Given the description of an element on the screen output the (x, y) to click on. 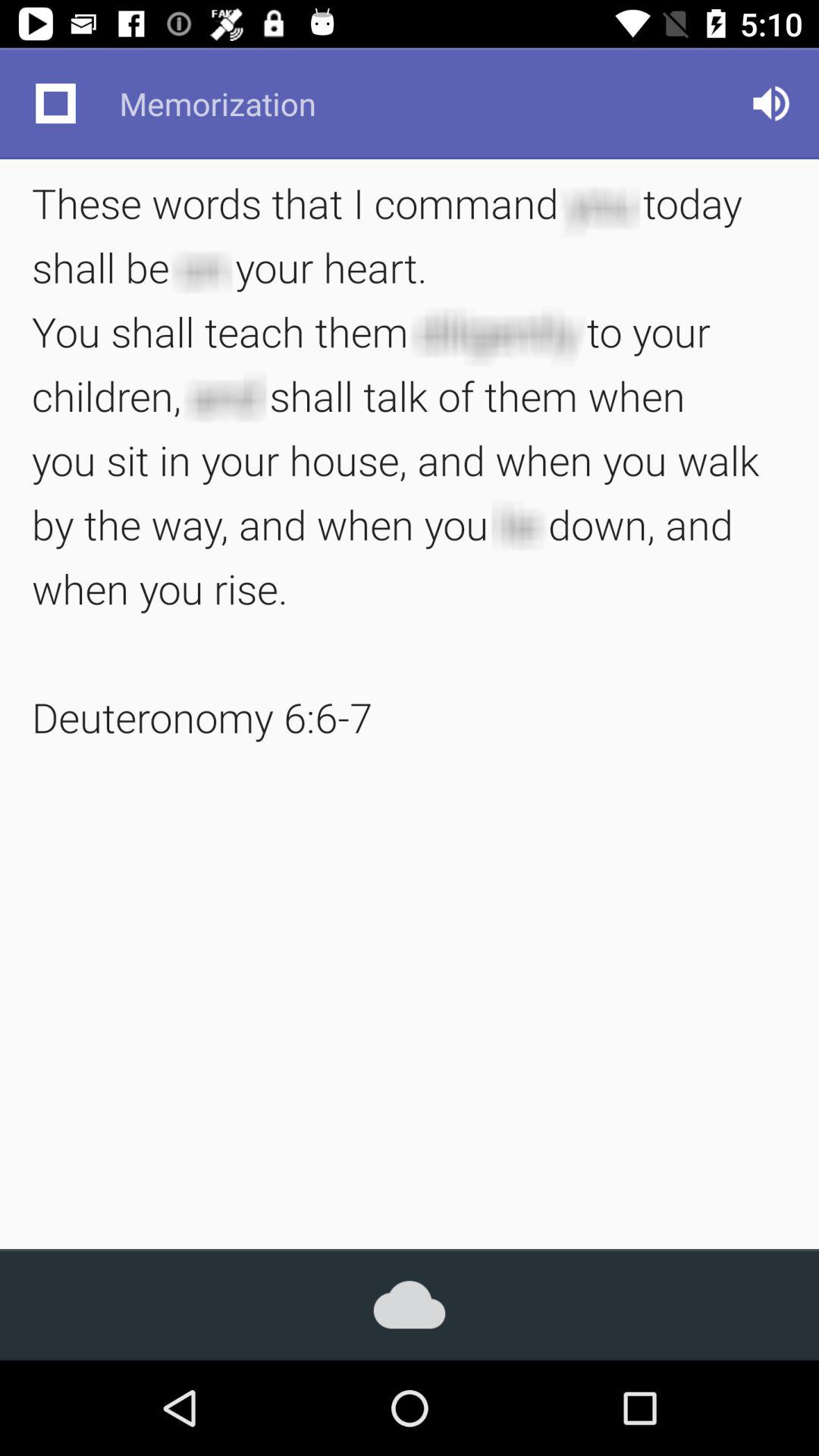
scroll until the these words that (409, 459)
